Given the description of an element on the screen output the (x, y) to click on. 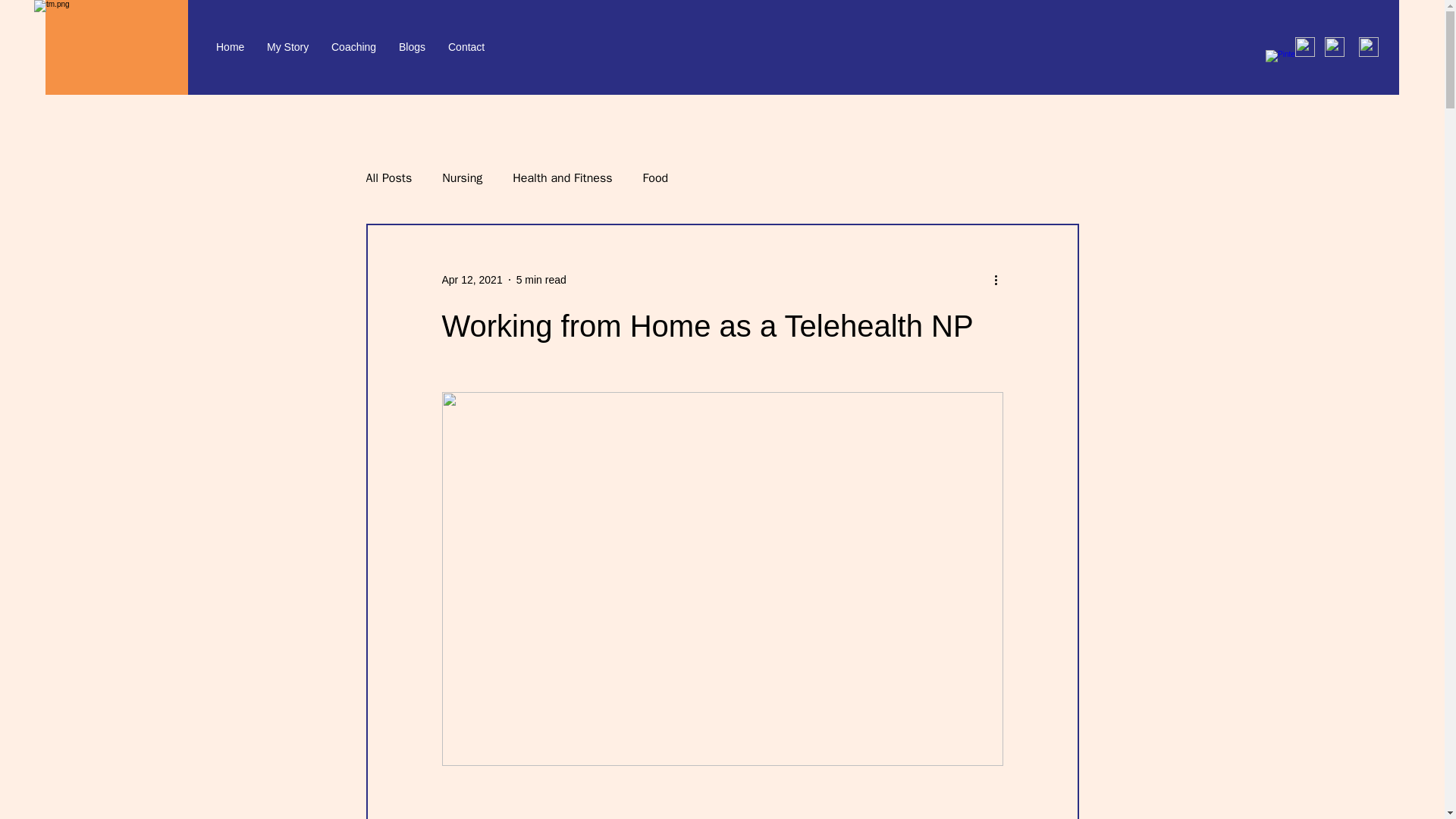
Nursing (461, 177)
Coaching (353, 46)
Blogs (411, 46)
Home (230, 46)
Apr 12, 2021 (471, 278)
5 min read (541, 278)
Contact (466, 46)
All Posts (388, 177)
Food (655, 177)
My Story (288, 46)
Health and Fitness (561, 177)
